Given the description of an element on the screen output the (x, y) to click on. 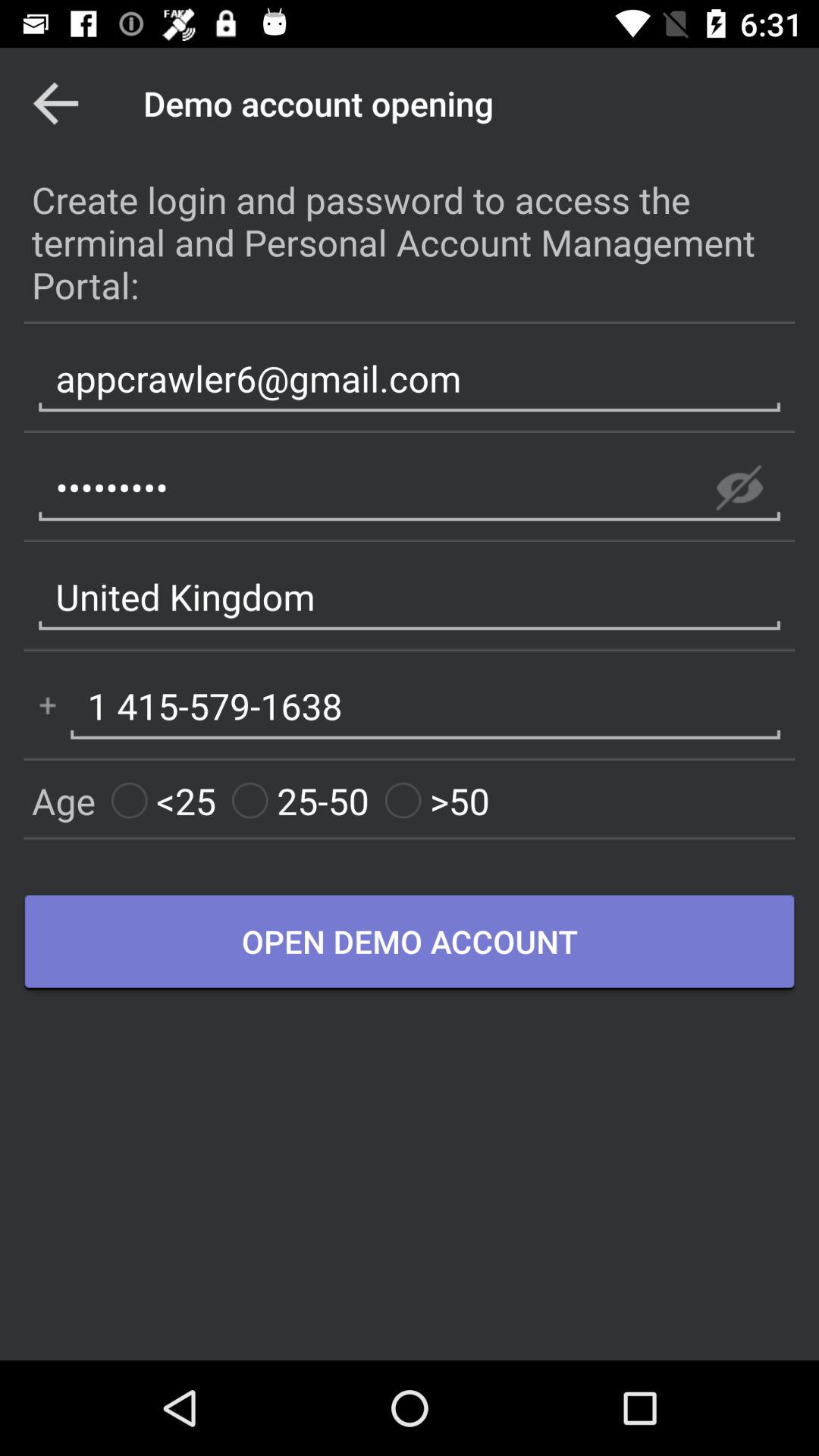
tap app to the left of the demo account opening app (55, 103)
